Given the description of an element on the screen output the (x, y) to click on. 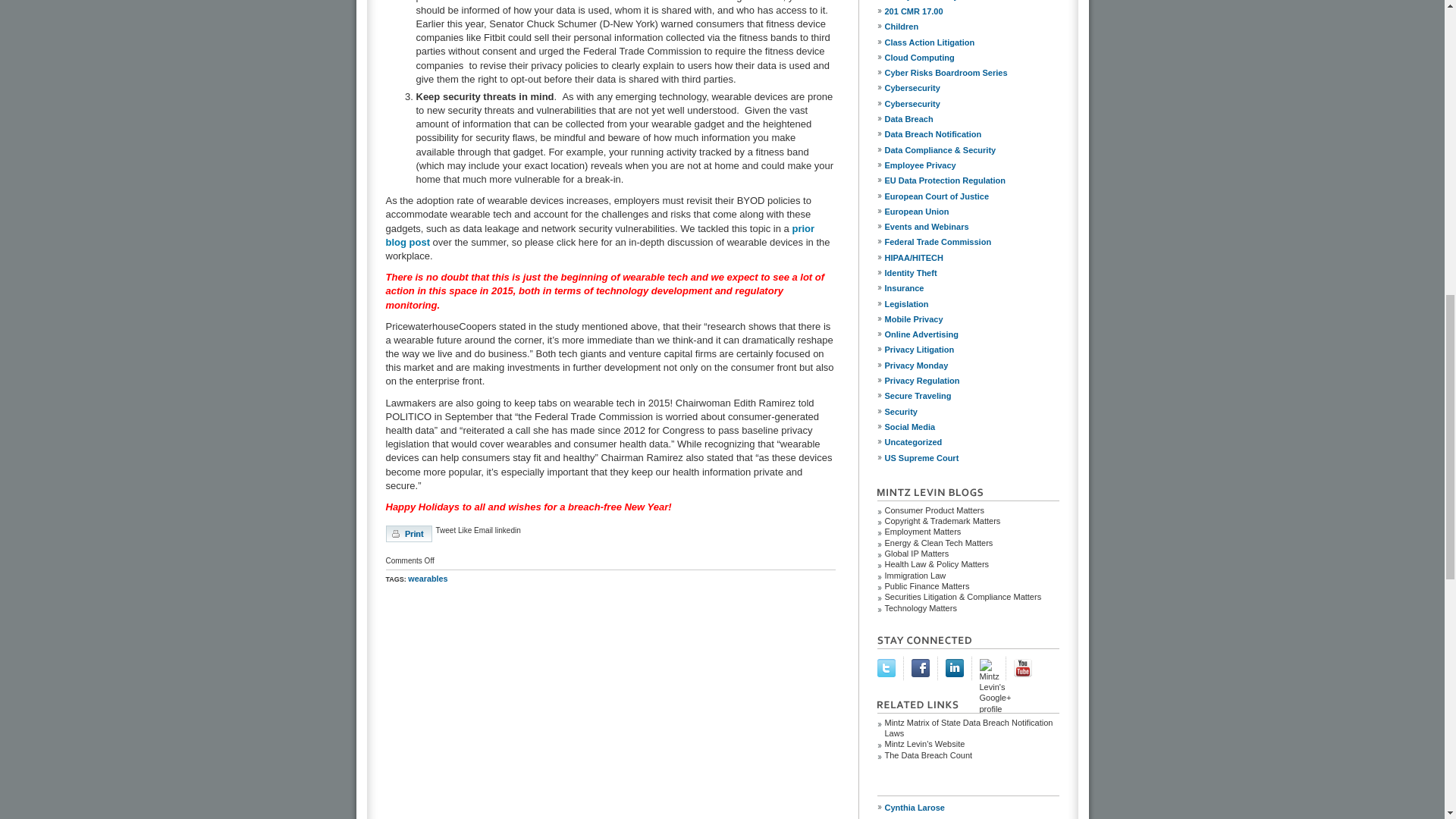
View all posts filed under 12 Days of Privacy (970, 2)
Cybersecurity (970, 87)
Cyber Risks Boardroom Series (970, 72)
201 CMR 17.00 (970, 11)
12 Days of Privacy (970, 2)
Cloud Computing (970, 57)
Children (970, 26)
Class Action Litigation (970, 42)
Print (407, 533)
Cybersecurity (970, 103)
